Given the description of an element on the screen output the (x, y) to click on. 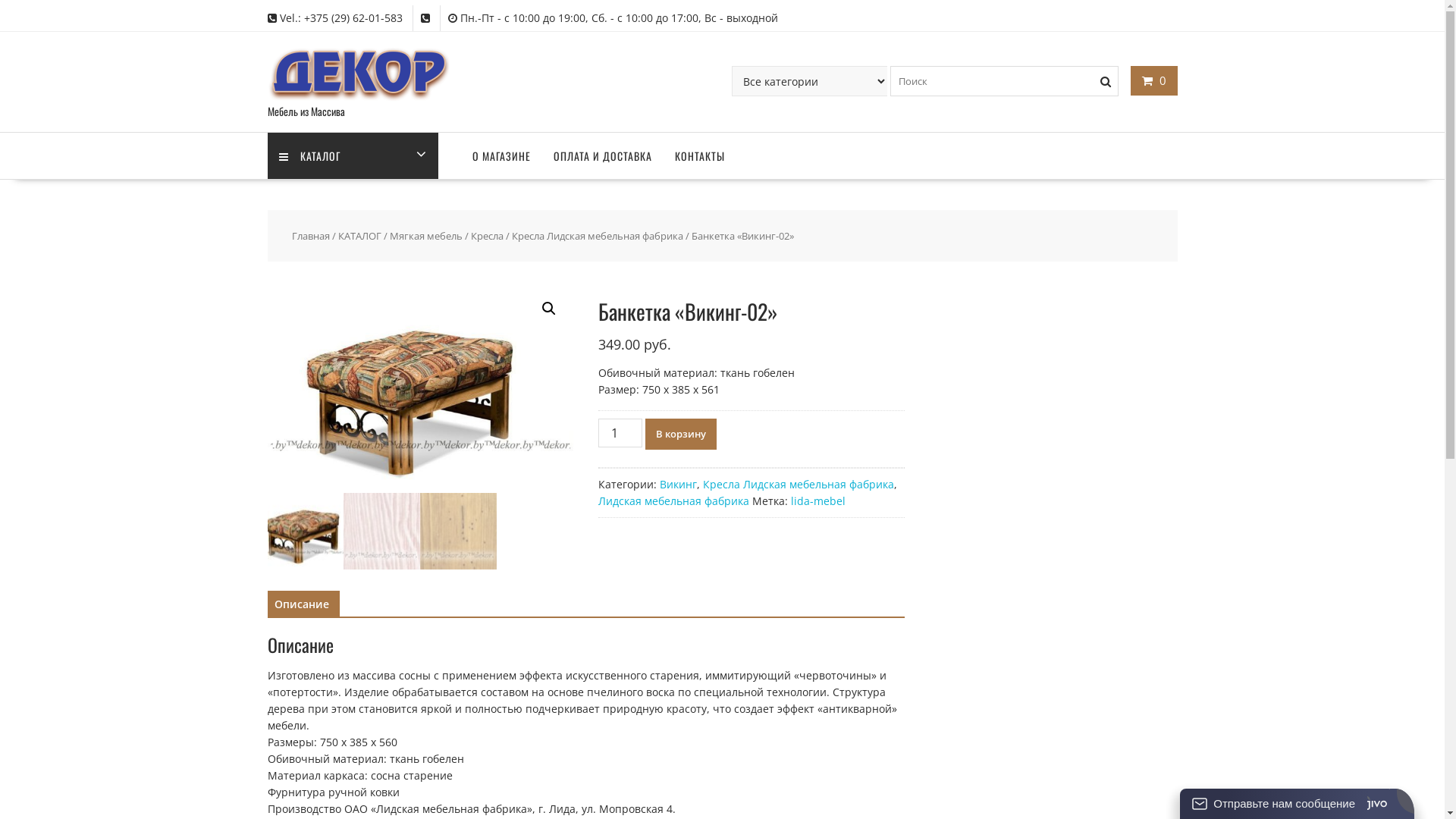
ottomankaviking.jpg Element type: hover (419, 388)
0 Element type: text (1154, 79)
Skip to content Element type: text (0, 0)
lida-mebel Element type: text (817, 500)
